Given the description of an element on the screen output the (x, y) to click on. 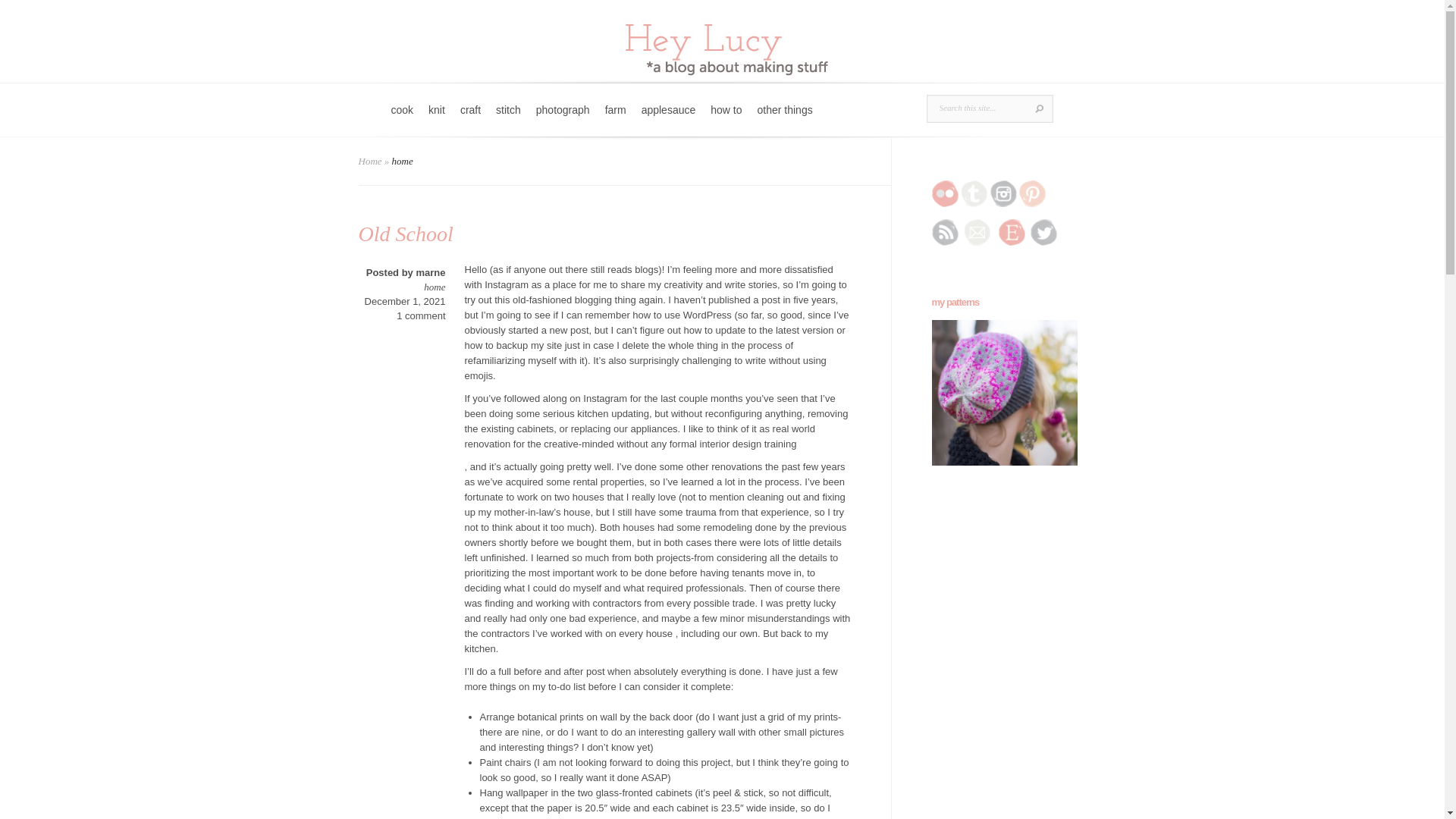
Old School (405, 233)
applesauce (668, 119)
Posts by marne (429, 272)
Home (369, 161)
stitch (507, 119)
cook (403, 119)
1 comment (420, 315)
fairy stones hat (1004, 393)
craft (469, 119)
farm (614, 119)
how to (726, 119)
other things (785, 119)
photograph (562, 119)
marne (429, 272)
Search this site... (979, 107)
